Given the description of an element on the screen output the (x, y) to click on. 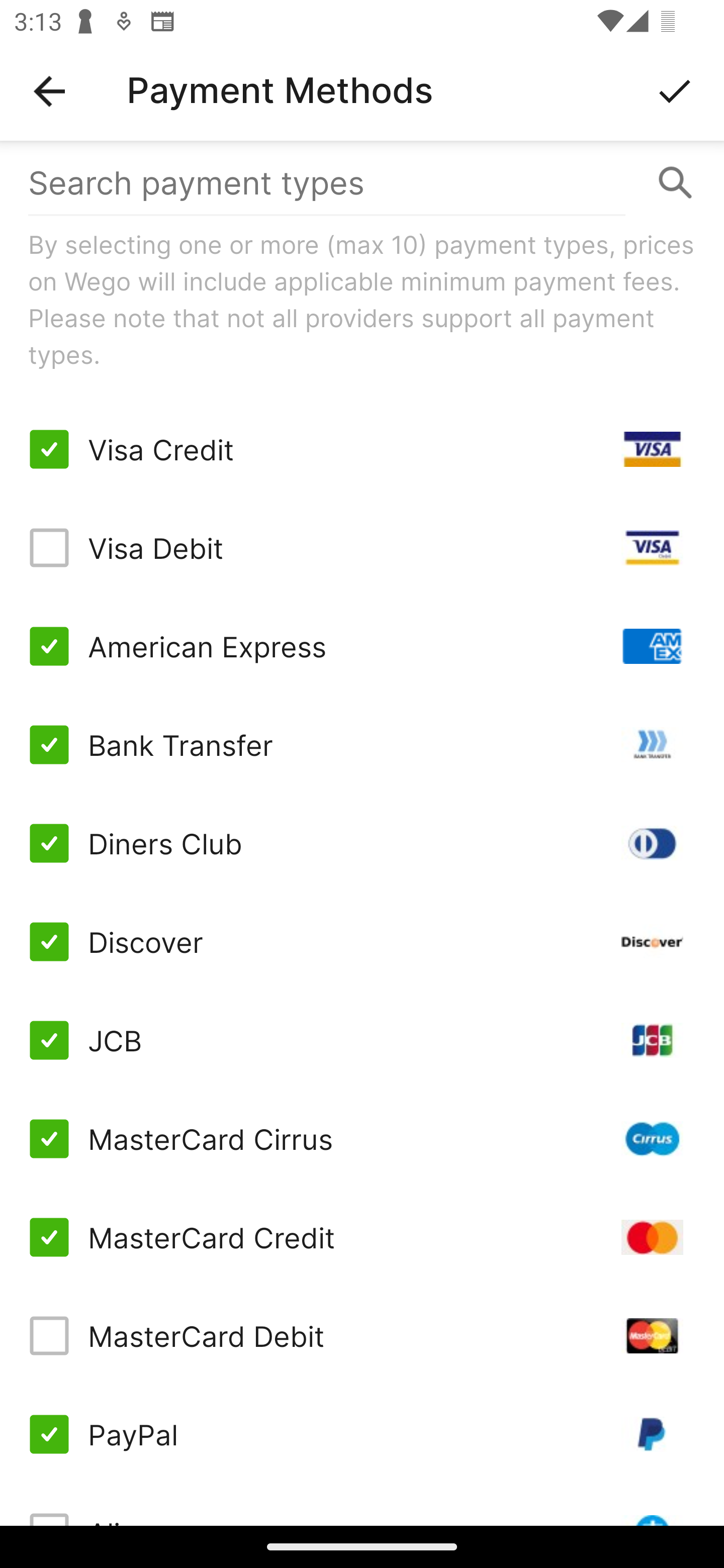
Search payment types  (361, 182)
Visa Credit (362, 448)
Visa Debit (362, 547)
American Express (362, 646)
Bank Transfer (362, 744)
Diners Club (362, 842)
Discover (362, 941)
JCB (362, 1039)
MasterCard Cirrus (362, 1138)
MasterCard Credit (362, 1237)
MasterCard Debit (362, 1335)
PayPal (362, 1433)
